Given the description of an element on the screen output the (x, y) to click on. 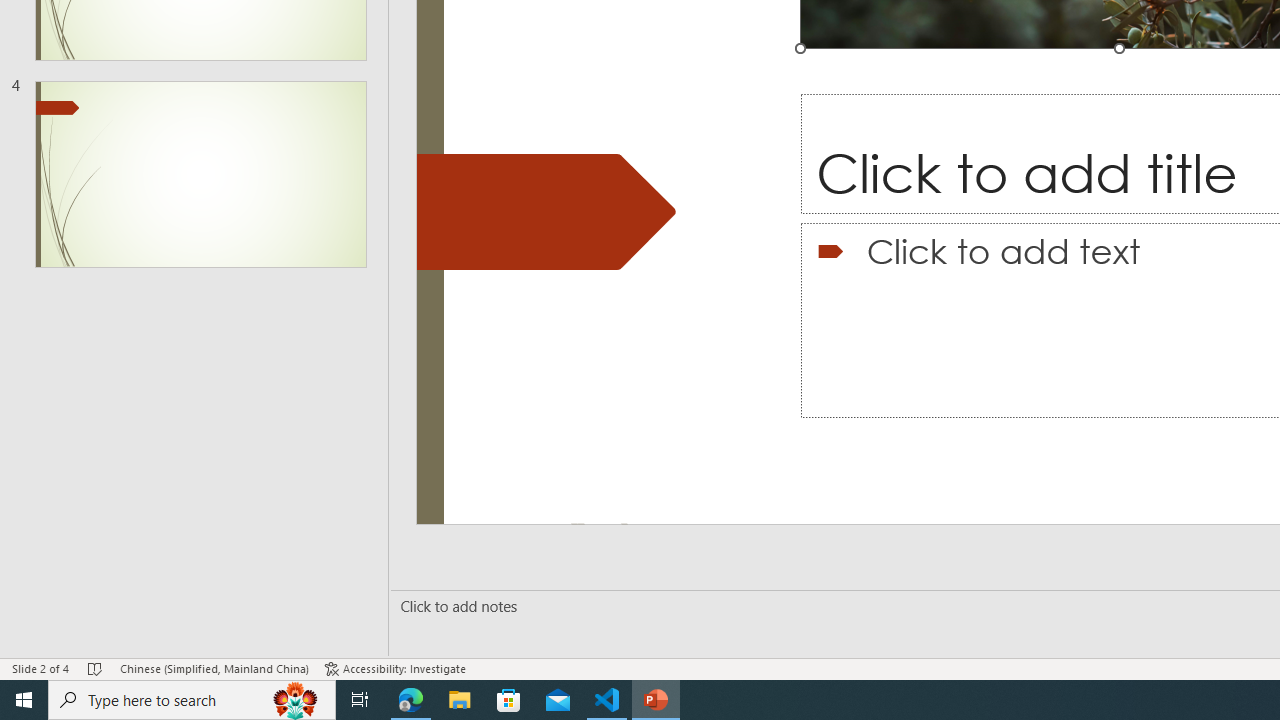
Decorative Locked (546, 212)
